Given the description of an element on the screen output the (x, y) to click on. 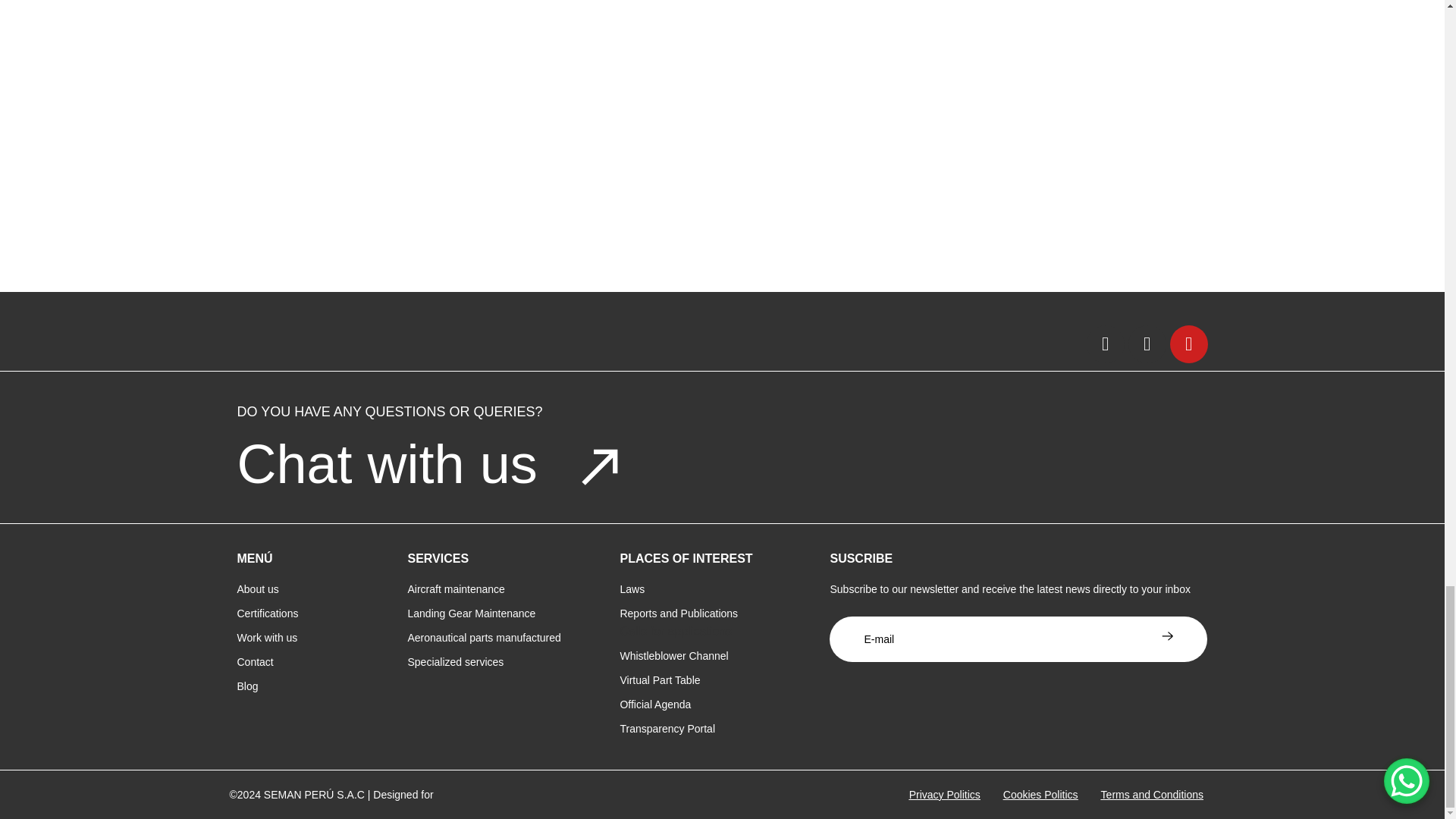
Chat with us (386, 464)
About us (256, 589)
Blog (246, 686)
Reports and Publications (679, 613)
Certifications (266, 613)
Work with us (266, 637)
Aircraft maintenance (456, 589)
Whistleblower Channel (674, 655)
Official Agenda (655, 704)
Calls for applications (676, 631)
Aeronautical parts manufactured (483, 637)
Contact (254, 662)
Virtual Part Table (660, 680)
Laws (632, 589)
Landing Gear Maintenance (471, 613)
